Given the description of an element on the screen output the (x, y) to click on. 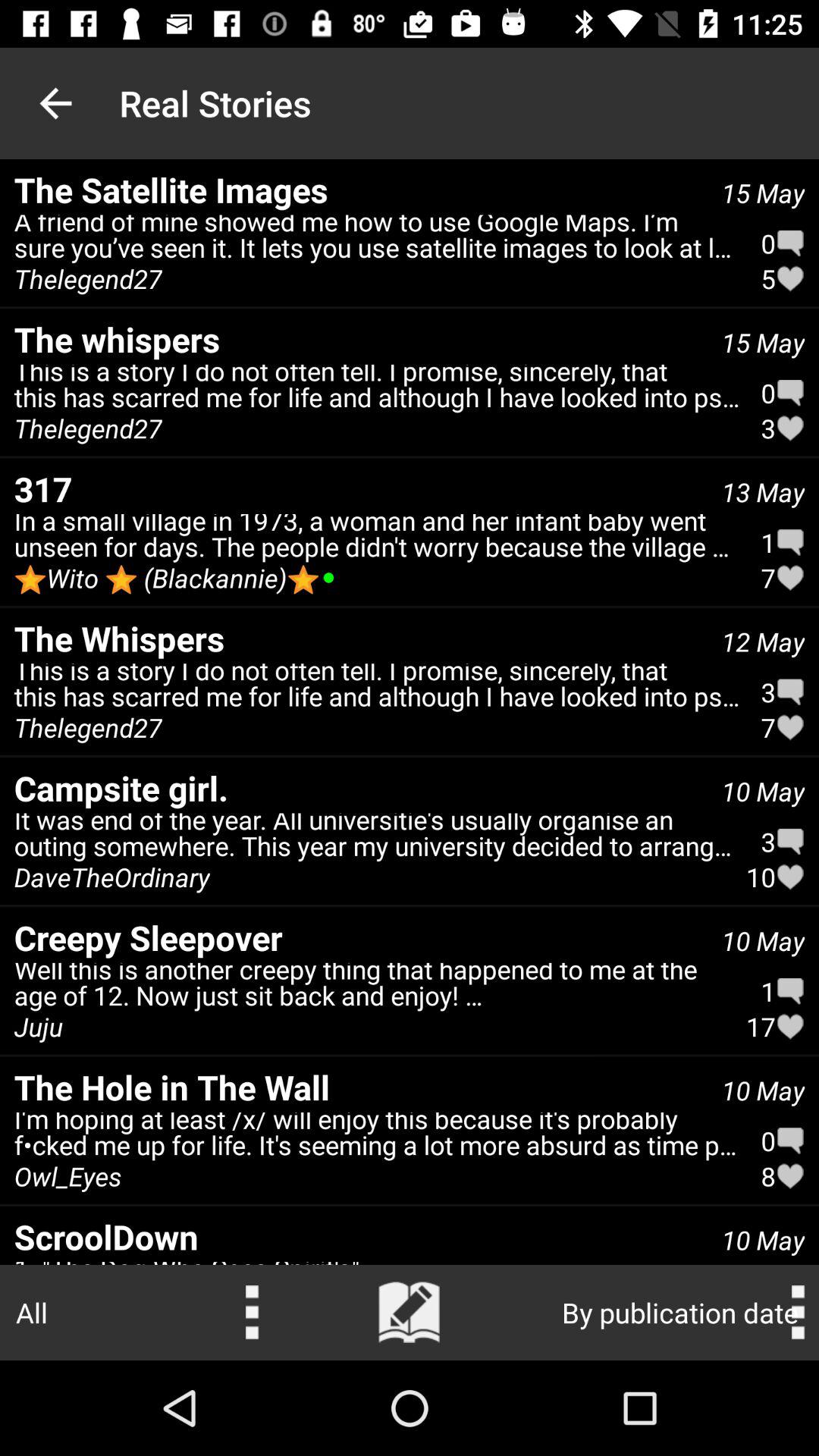
search button (409, 1312)
